Given the description of an element on the screen output the (x, y) to click on. 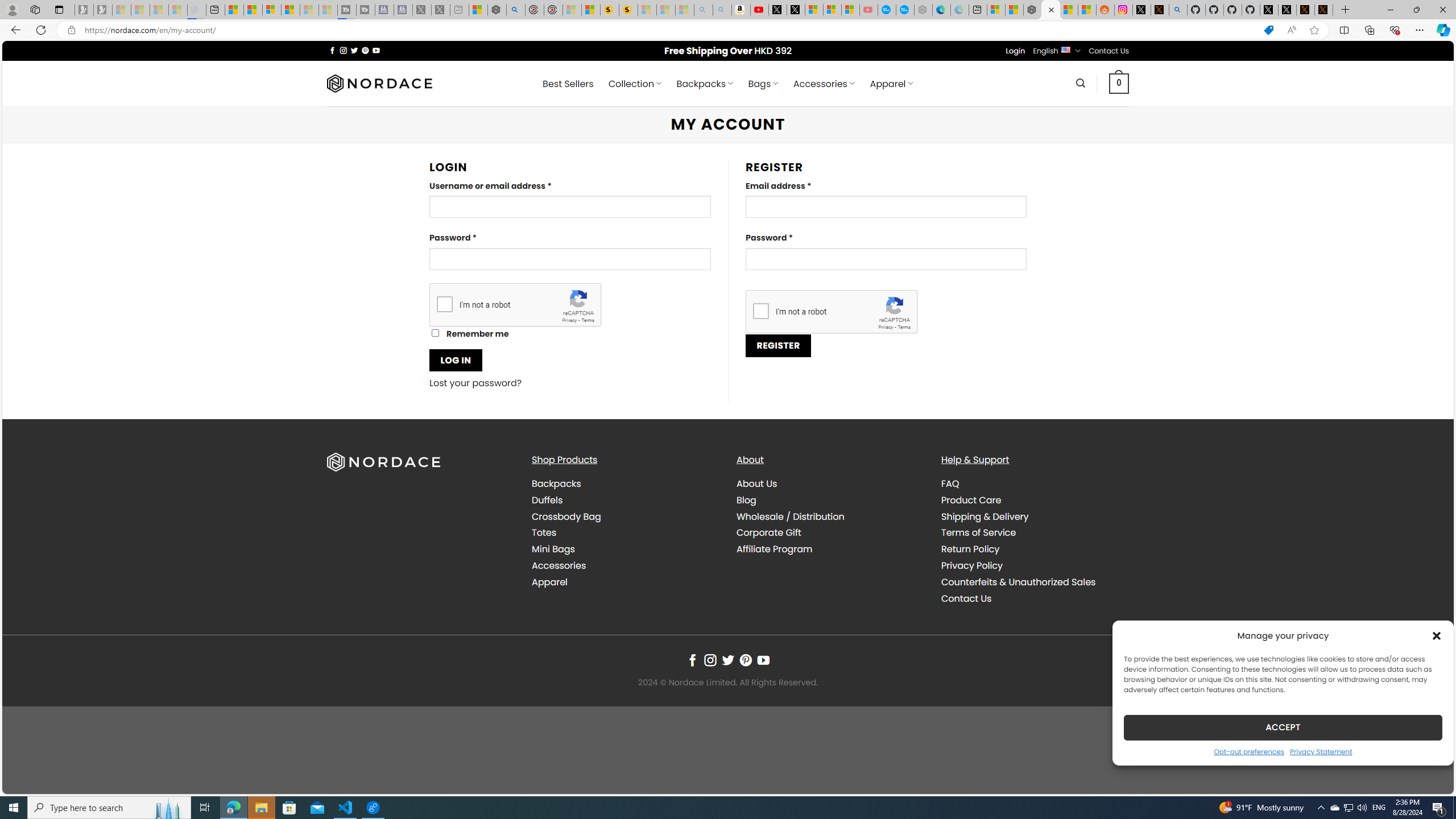
Return Policy (1034, 549)
Streaming Coverage | T3 - Sleeping (347, 9)
Nordace - Best Sellers (1032, 9)
English (1065, 49)
Accessories (558, 565)
Crossbody Bag (625, 516)
Opinion: Op-Ed and Commentary - USA TODAY (887, 9)
  0   (1118, 83)
New tab - Sleeping (459, 9)
